Given the description of an element on the screen output the (x, y) to click on. 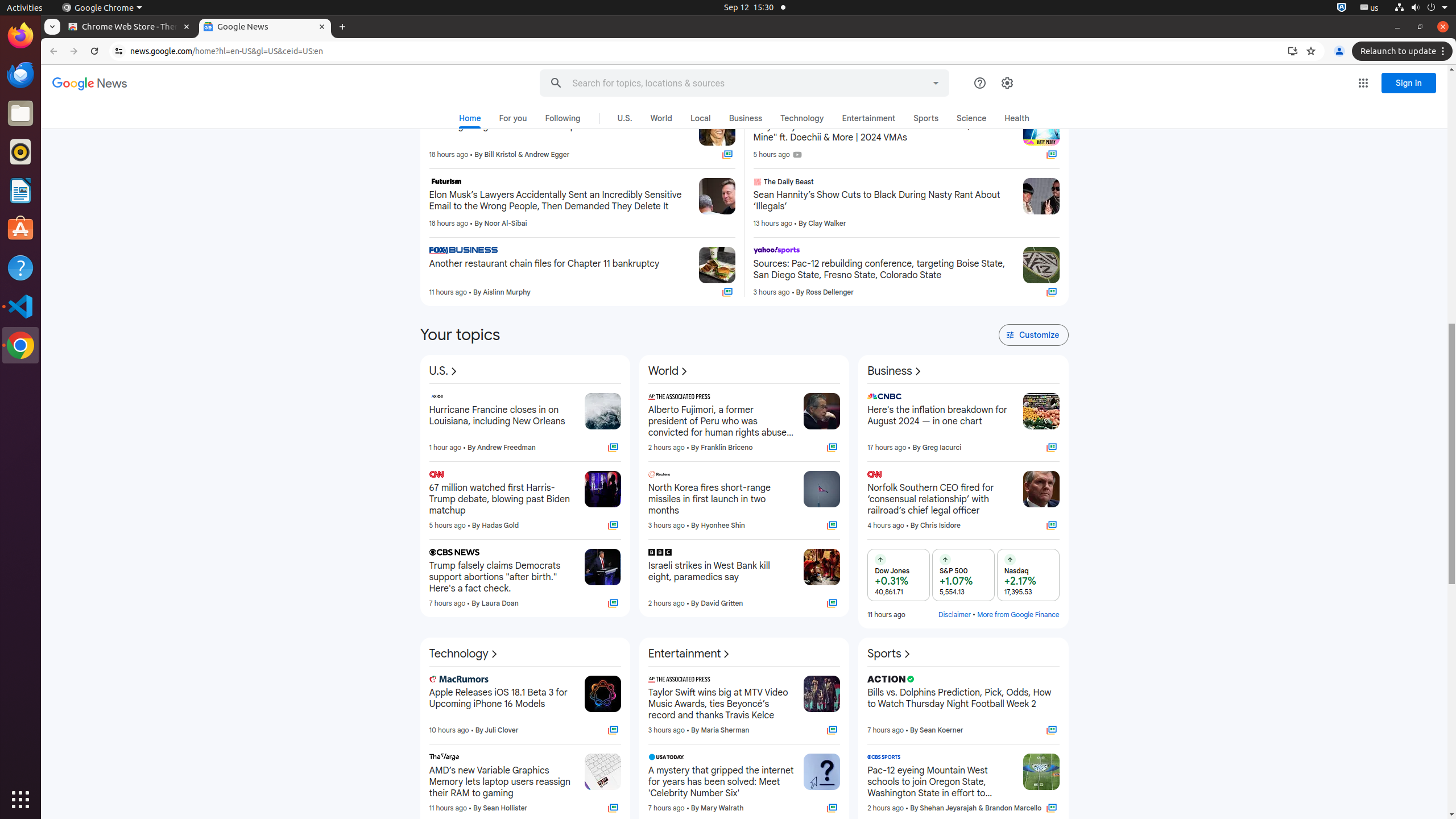
Show Applications Element type: toggle-button (20, 799)
Nasdaq +2.17% 17,395.53 Element type: link (1027, 574)
